Given the description of an element on the screen output the (x, y) to click on. 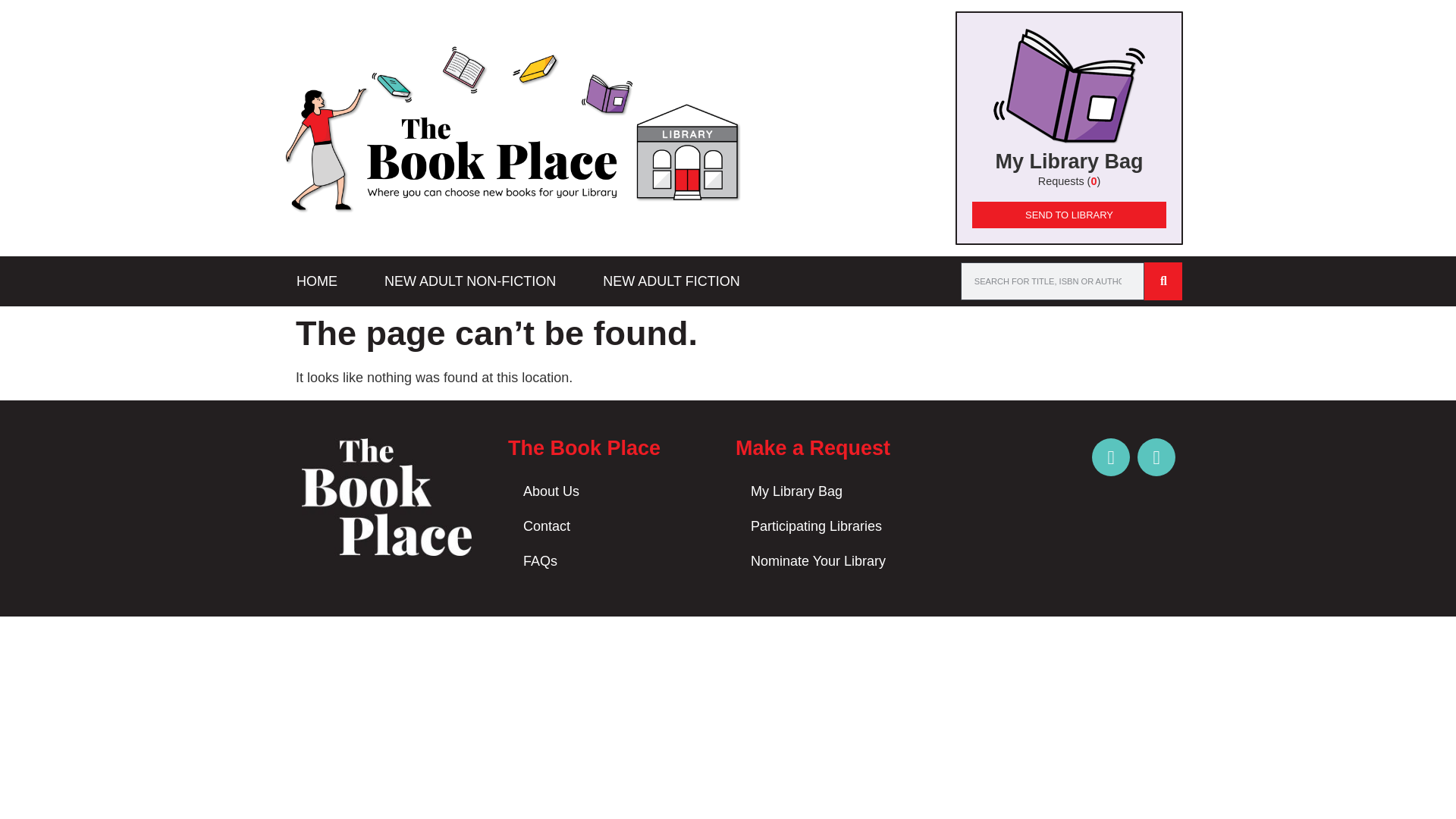
Go to bag (1068, 127)
HOME (317, 281)
footer-thebookplace (386, 497)
NEW ADULT NON-FICTION (470, 281)
Search (1163, 281)
Search (1052, 281)
